Given the description of an element on the screen output the (x, y) to click on. 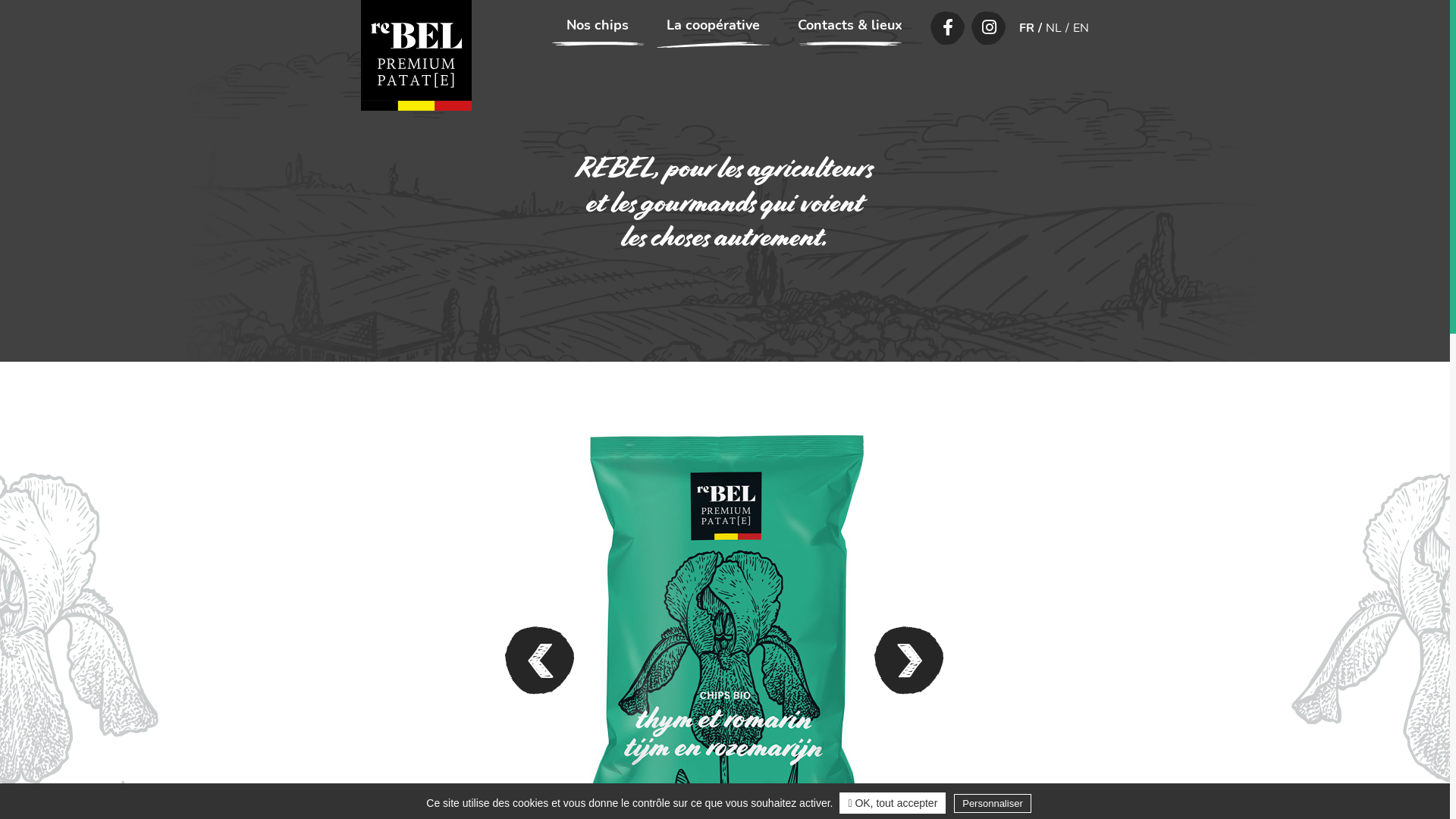
reBEL - Premium patate[e] Element type: hover (415, 55)
Previous Element type: text (540, 660)
Facebook Element type: hover (947, 27)
Contacts & lieux Element type: text (849, 24)
Intagram Element type: hover (988, 27)
FR Element type: text (1026, 27)
Next Element type: text (909, 660)
Nos chips Element type: text (597, 24)
Personnaliser Element type: text (992, 802)
NL Element type: text (1053, 27)
EN Element type: text (1080, 27)
